Given the description of an element on the screen output the (x, y) to click on. 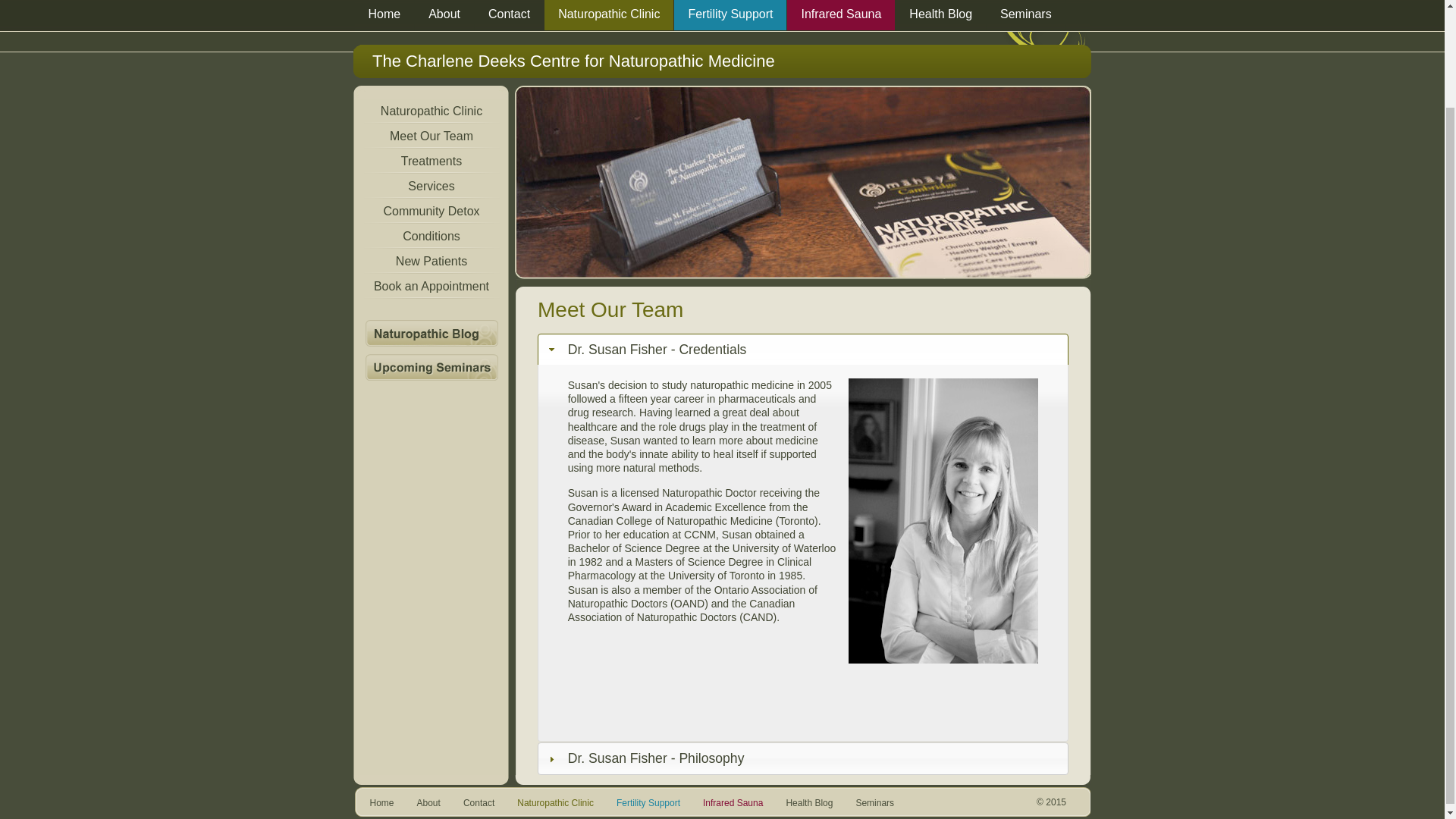
Community Detox (430, 211)
New Patients (430, 260)
Contact (508, 15)
Seminars (1026, 15)
Dr. Susan Fisher - Credentials (802, 349)
Naturopathic Clinic (430, 110)
About (444, 15)
Meet Our Team (430, 135)
Health Blog (940, 15)
Dr. Susan Fisher - Philosophy (802, 757)
Fertility Support (730, 15)
Treatments (430, 160)
Infrared Sauna (841, 15)
Book an Appointment (430, 285)
Conditions (430, 235)
